Given the description of an element on the screen output the (x, y) to click on. 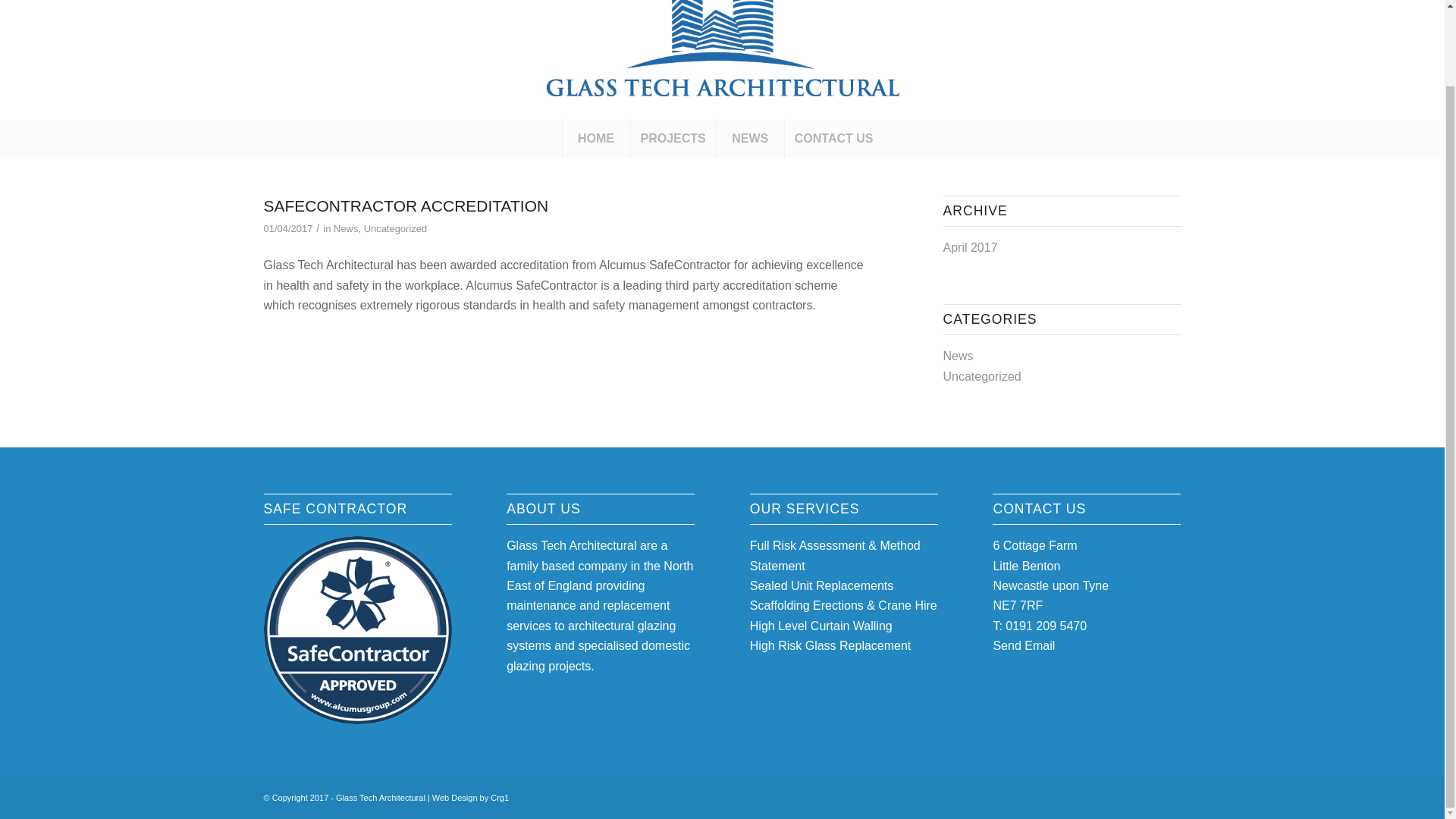
Web Design by Crg1 (470, 797)
HOME (596, 138)
Uncategorized (982, 376)
CONTACT US (833, 138)
Mail (1169, 794)
glasstech-logo-2 (721, 59)
Send Email (1023, 645)
Instagram (1146, 794)
Permanent Link: SafeContractor Accreditation (405, 205)
SAFECONTRACTOR ACCREDITATION (405, 205)
News (958, 355)
NEWS (750, 138)
April 2017 (970, 246)
Uncategorized (396, 228)
PROJECTS (673, 138)
